Given the description of an element on the screen output the (x, y) to click on. 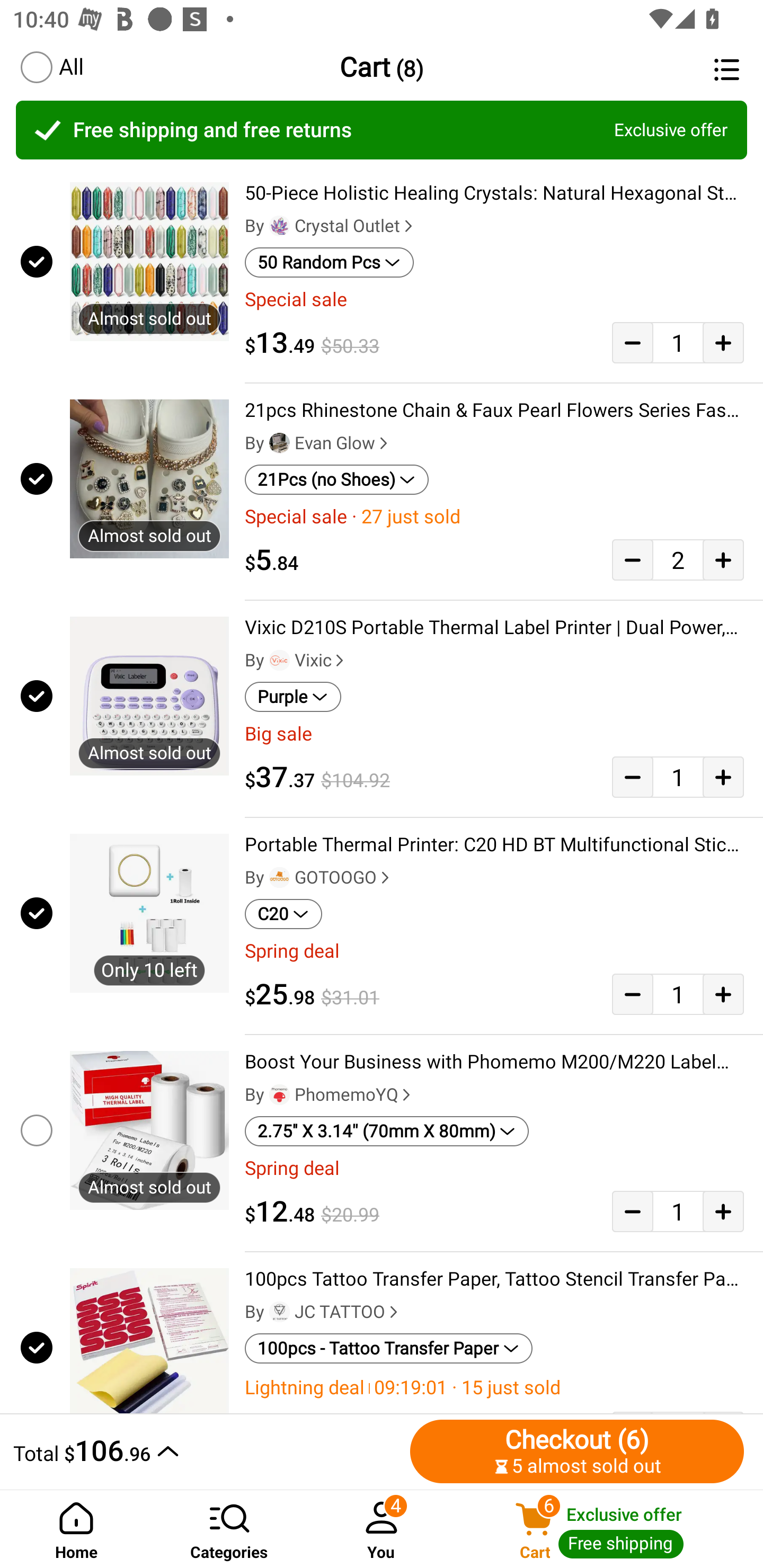
Select all tick button All (51, 67)
Free shipping and free returns Exclusive offer (381, 129)
Product checkbox checked (35, 260)
By Crystal Outlet (330, 226)
50 Random Pcs (328, 262)
Special sale (493, 299)
Decrease quantity button (632, 342)
1 (677, 342)
Add quantity button (722, 342)
Product checkbox checked (35, 478)
By Evan Glow (317, 442)
21Pcs (no Shoes) (336, 479)
Special sale · 27 just sold (493, 517)
Decrease quantity button (632, 559)
2 (677, 559)
Add quantity button (722, 559)
Product checkbox checked (35, 696)
By Vixic (295, 660)
Purple (292, 696)
Big sale (493, 733)
Decrease quantity button (632, 776)
1 (677, 776)
Add quantity button (722, 776)
Product checkbox checked (35, 913)
By GOTOOGO (318, 877)
C20 (282, 913)
Spring deal (493, 951)
Decrease quantity button (632, 993)
1 (677, 993)
Add quantity button (722, 993)
Product checkbox uncheck (35, 1130)
By PhomemoYQ (329, 1095)
2.75'' X 3.14'' (70mm X 80mm) (386, 1131)
Spring deal (493, 1168)
Decrease quantity button (632, 1211)
1 (677, 1211)
Add quantity button (722, 1211)
Product checkbox checked (35, 1344)
By JC TATTOO (322, 1311)
100pcs - Tattoo Transfer Paper (388, 1348)
Lightning deal | ￼ · 15 just sold (493, 1387)
Total $106.96 (206, 1450)
Checkout Checkout (6) ￼5 almost sold out (576, 1451)
Home (76, 1528)
Categories (228, 1528)
You 4 You (381, 1528)
Cart 6 Cart Exclusive offer (610, 1528)
